Given the description of an element on the screen output the (x, y) to click on. 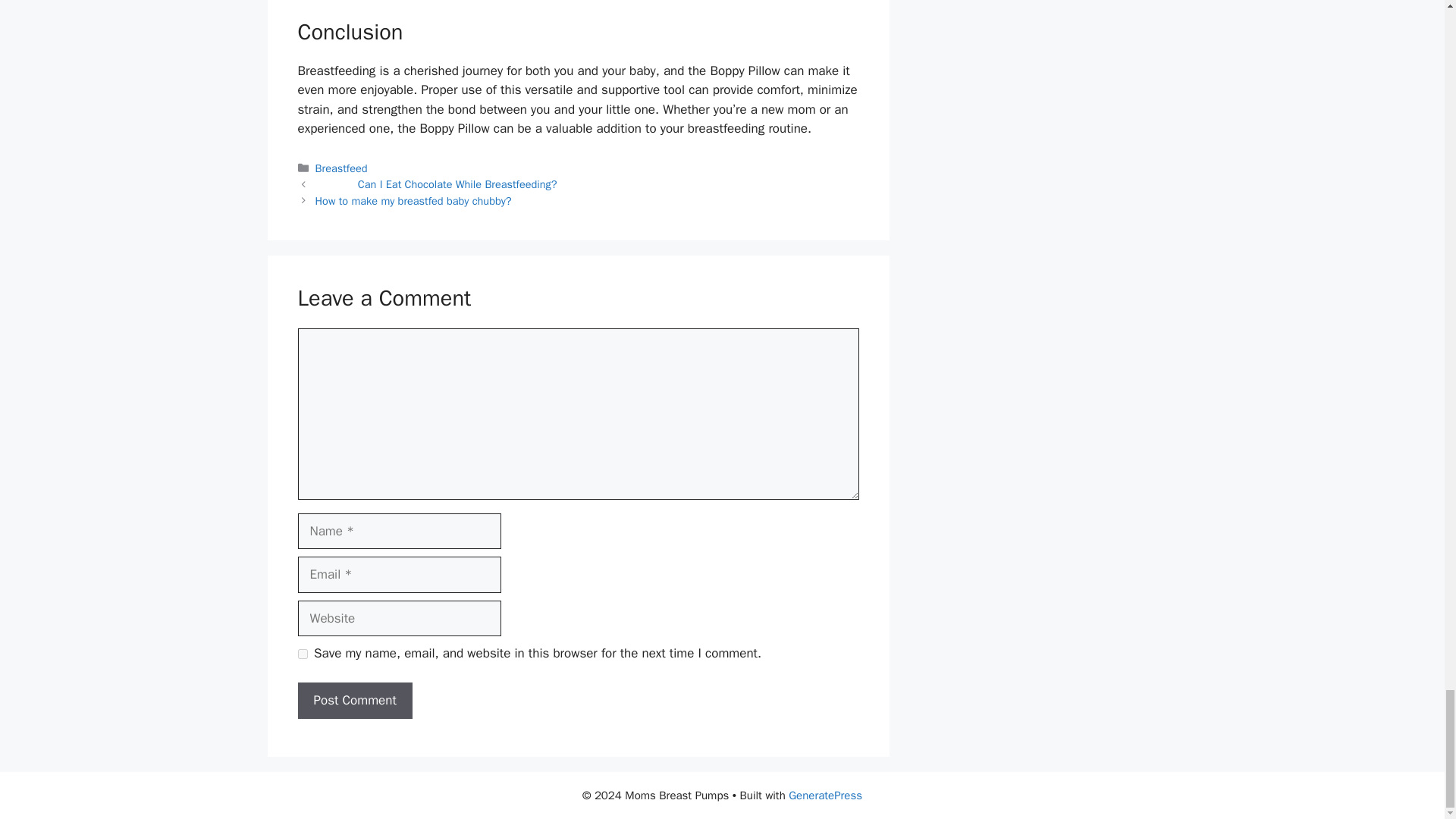
             Can I Eat Chocolate While Breastfeeding? (436, 183)
Post Comment (354, 700)
yes (302, 654)
How to make my breastfed baby chubby? (413, 201)
Breastfeed (341, 168)
Post Comment (354, 700)
